Given the description of an element on the screen output the (x, y) to click on. 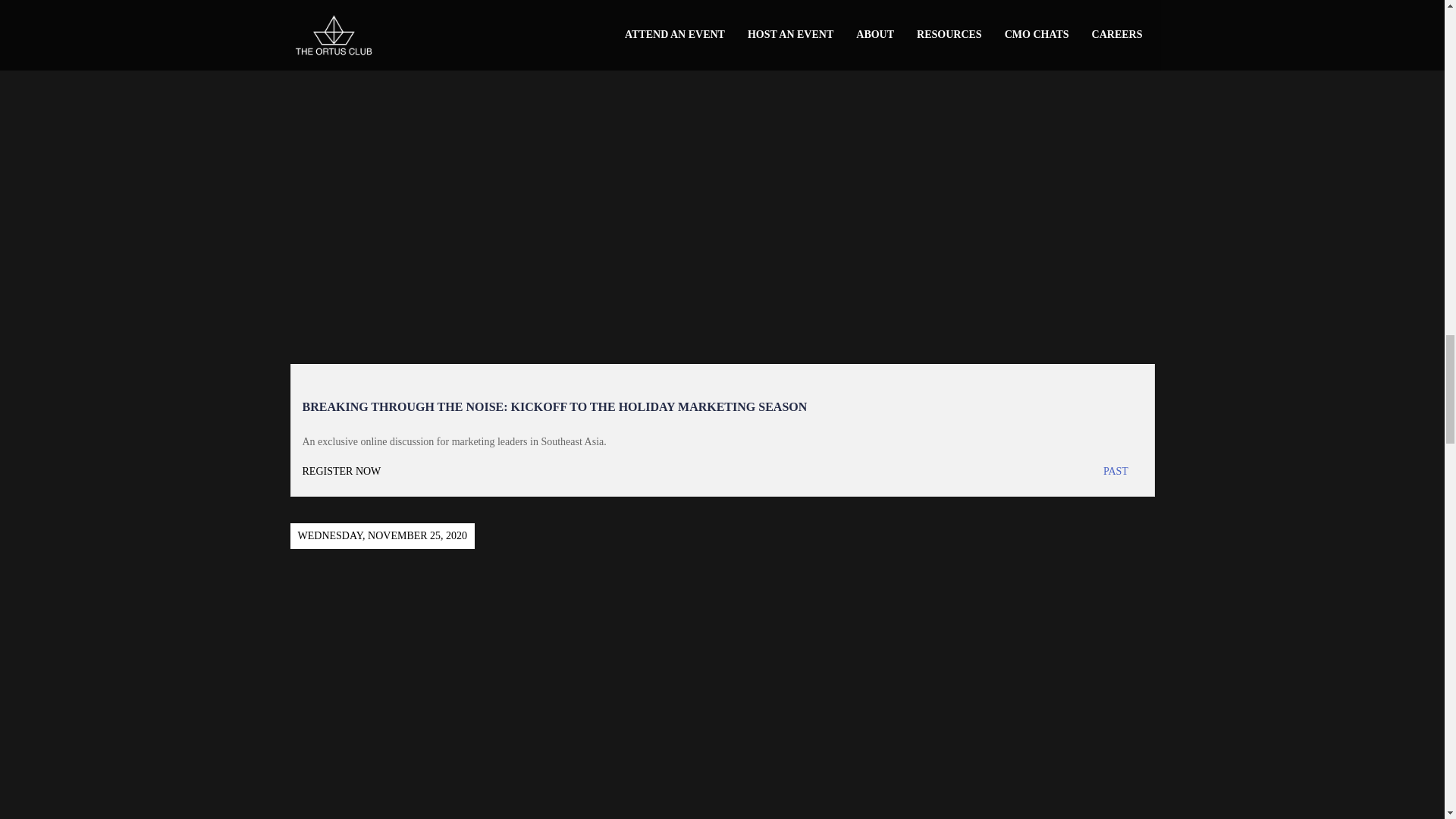
REGISTER NOW (511, 471)
